Given the description of an element on the screen output the (x, y) to click on. 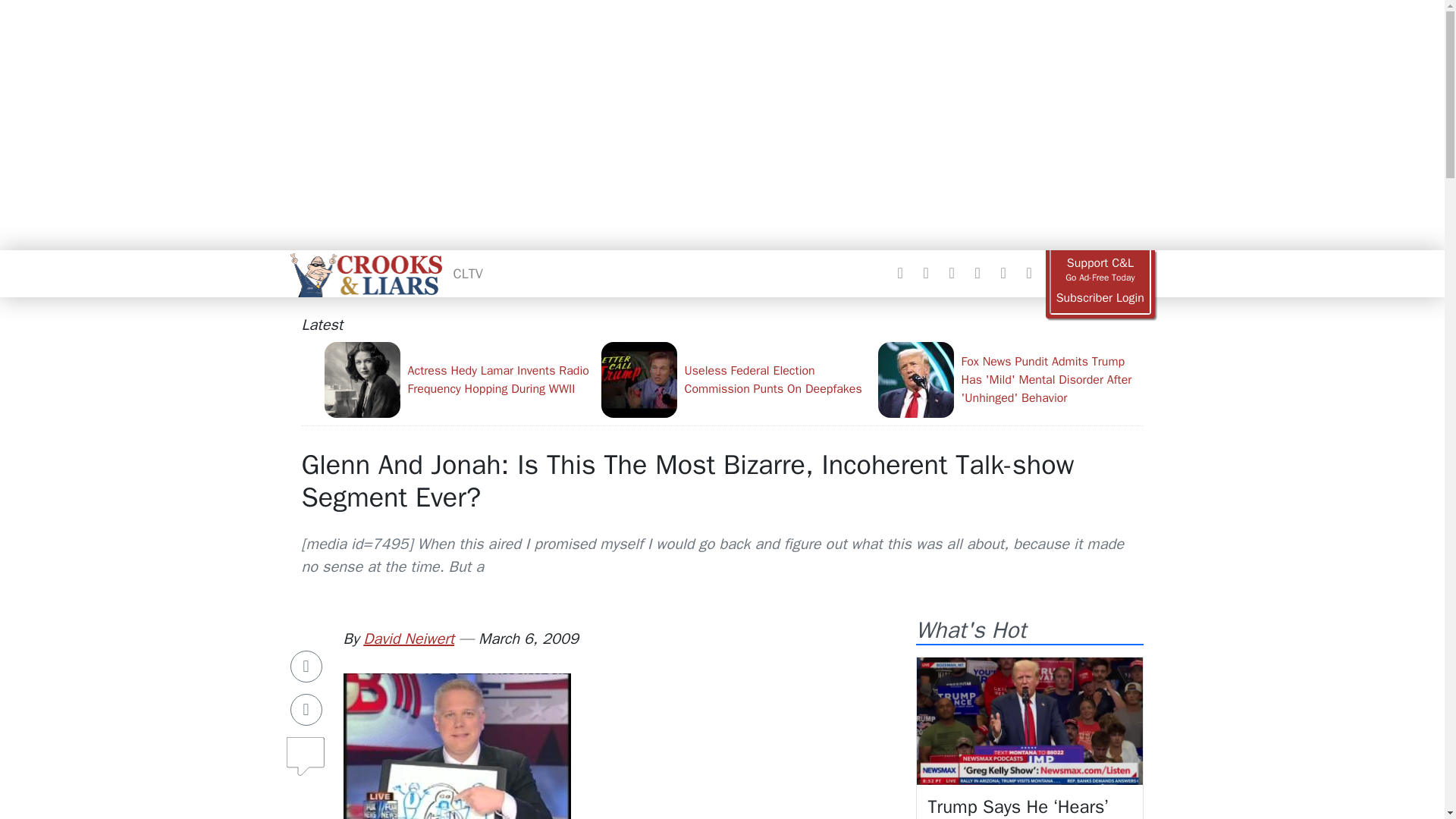
David Neiwert (408, 638)
Subscriber Login (1099, 298)
Share on Facebook (306, 666)
David Neiwert (408, 638)
CLTV (467, 273)
Comments (306, 750)
